Given the description of an element on the screen output the (x, y) to click on. 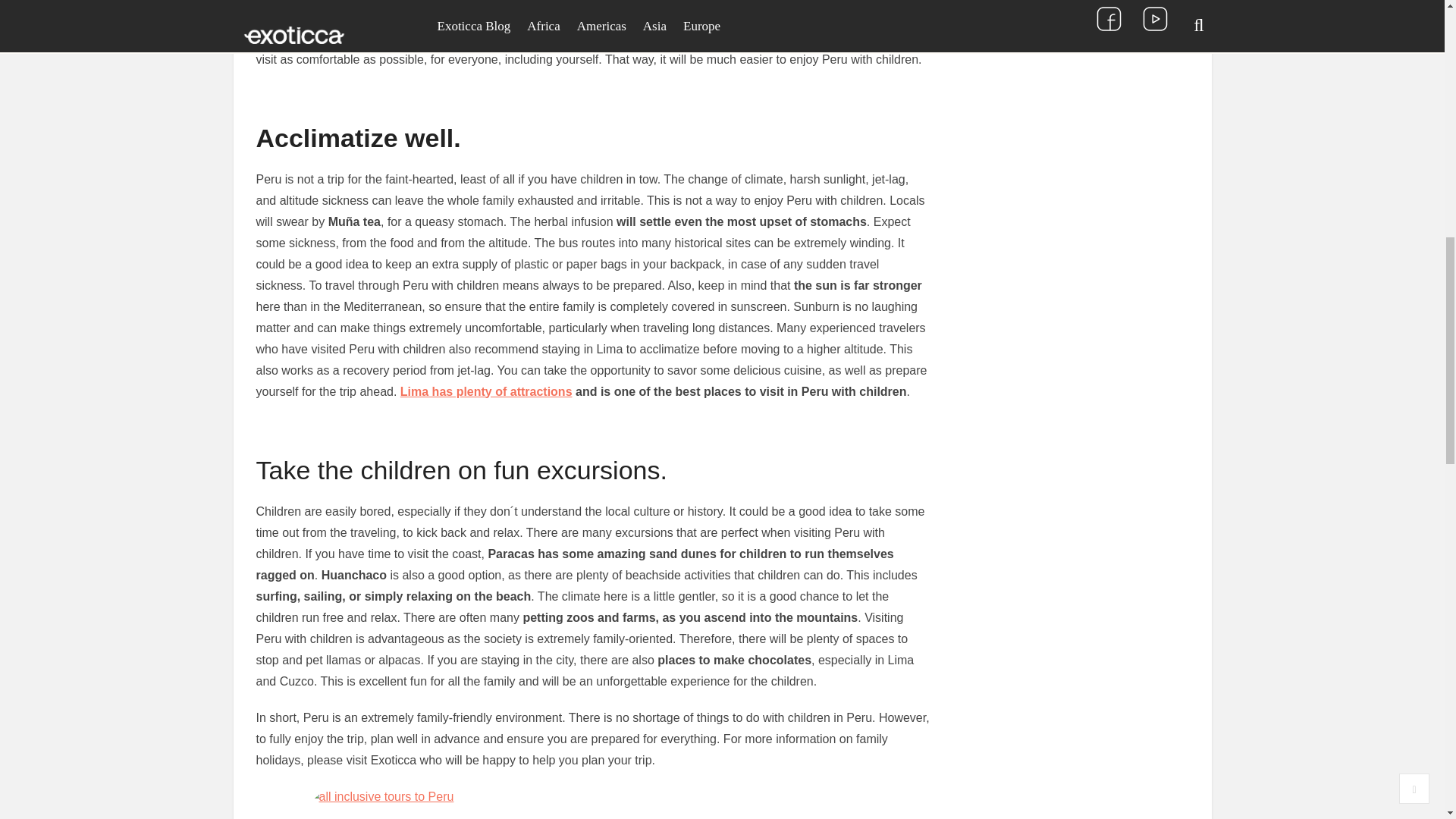
Lima has plenty of attractions (486, 391)
